Given the description of an element on the screen output the (x, y) to click on. 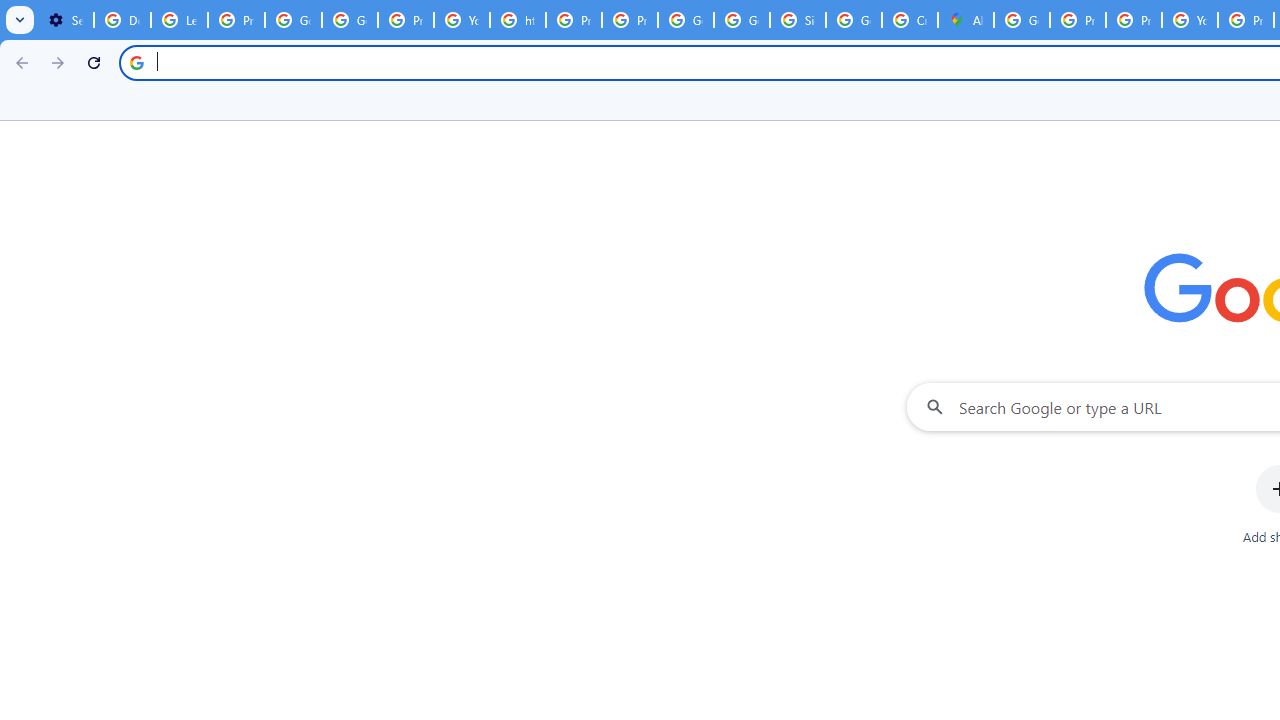
Privacy Help Center - Policies Help (573, 20)
Settings - On startup (65, 20)
Create your Google Account (909, 20)
